Given the description of an element on the screen output the (x, y) to click on. 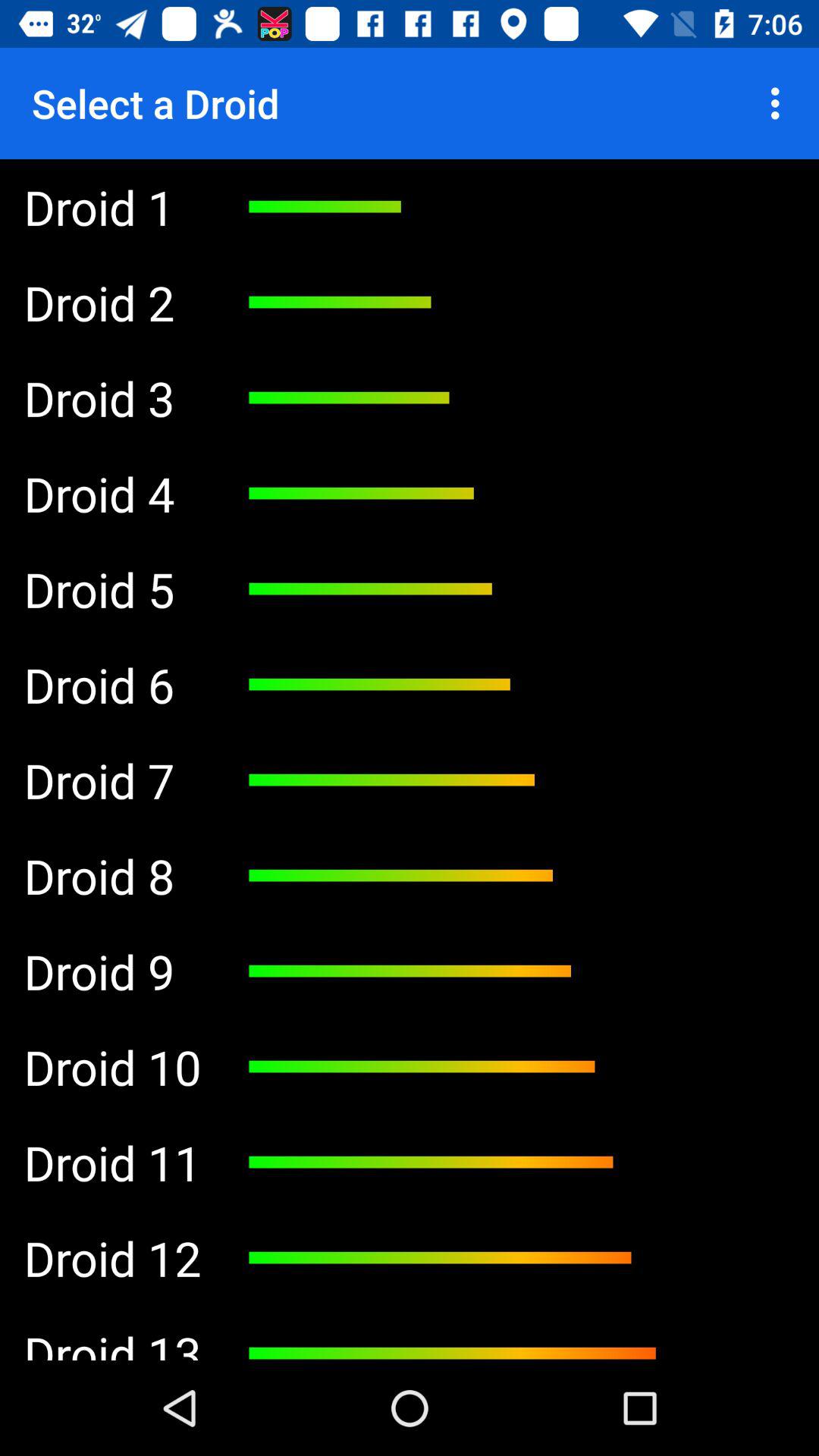
launch the droid 11 icon (112, 1162)
